Given the description of an element on the screen output the (x, y) to click on. 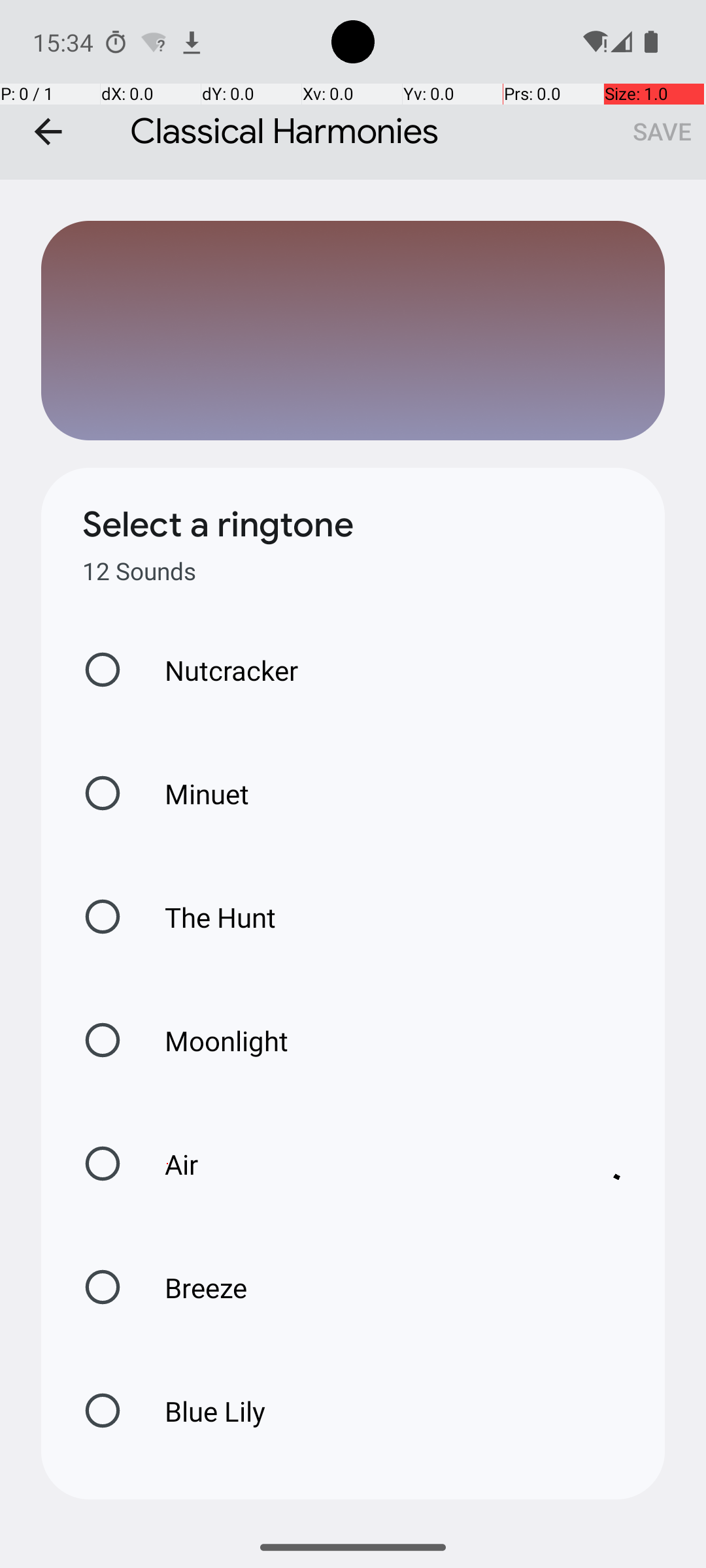
Nutcracker Element type: android.widget.TextView (217, 669)
Minuet Element type: android.widget.TextView (193, 793)
The Hunt Element type: android.widget.TextView (206, 916)
Moonlight Element type: android.widget.TextView (212, 1040)
Air Element type: android.widget.TextView (359, 1163)
Breeze Element type: android.widget.TextView (192, 1287)
Blue Lily Element type: android.widget.TextView (201, 1410)
